Given the description of an element on the screen output the (x, y) to click on. 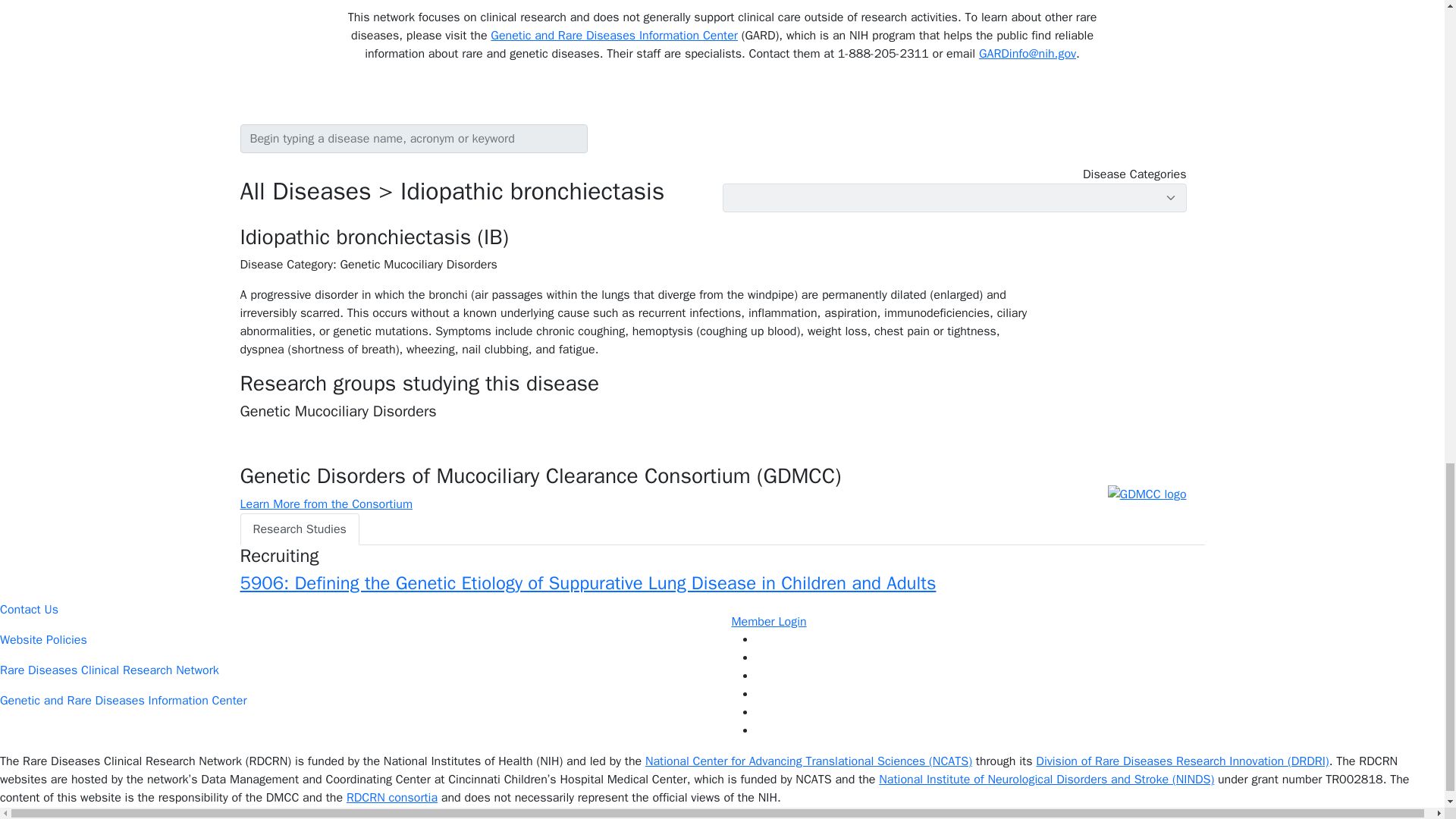
Search Button (596, 133)
Contact us here. (356, 609)
